Given the description of an element on the screen output the (x, y) to click on. 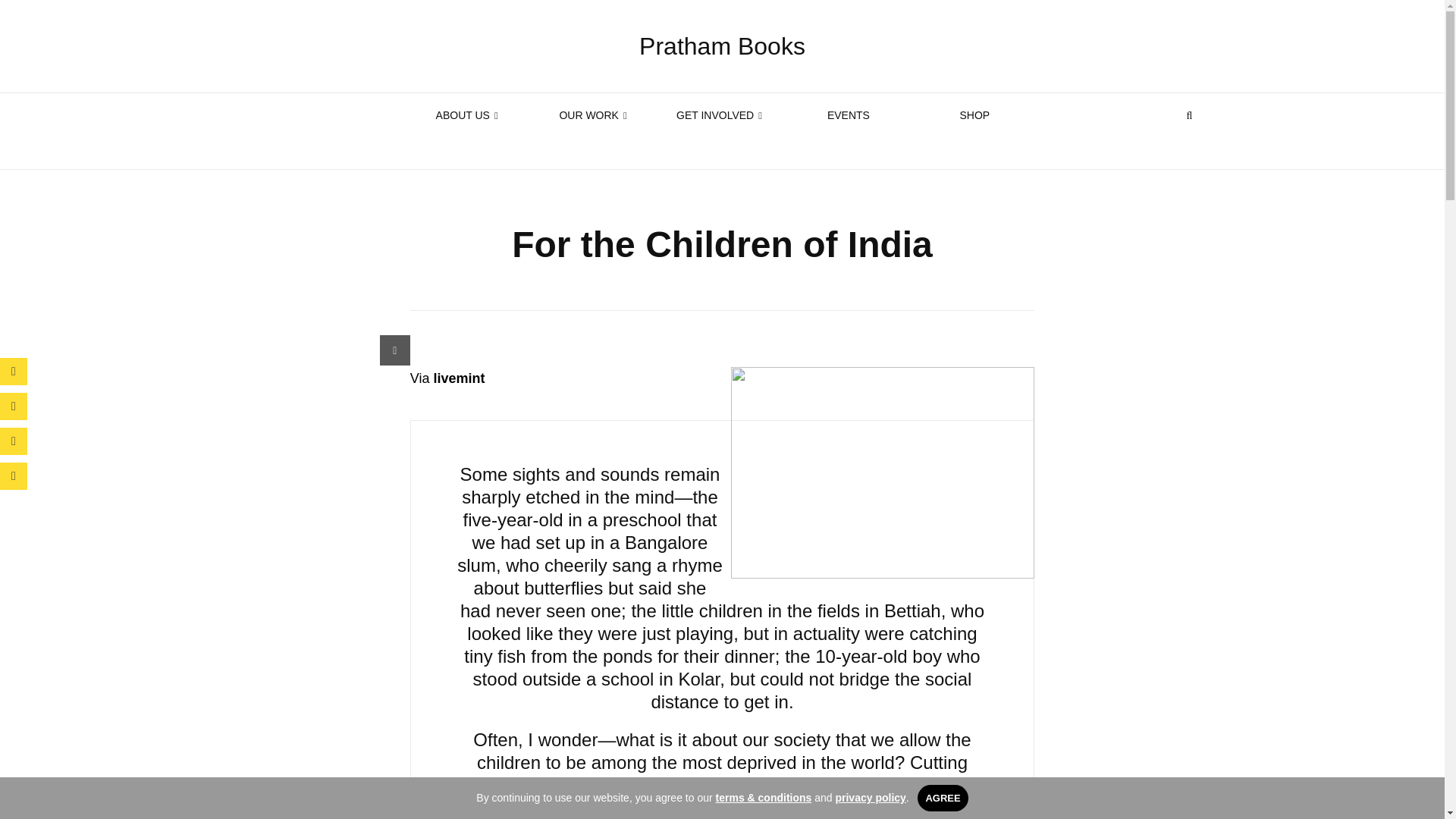
OUR WORK (595, 115)
Pratham Books (722, 46)
ABOUT US (469, 115)
